Given the description of an element on the screen output the (x, y) to click on. 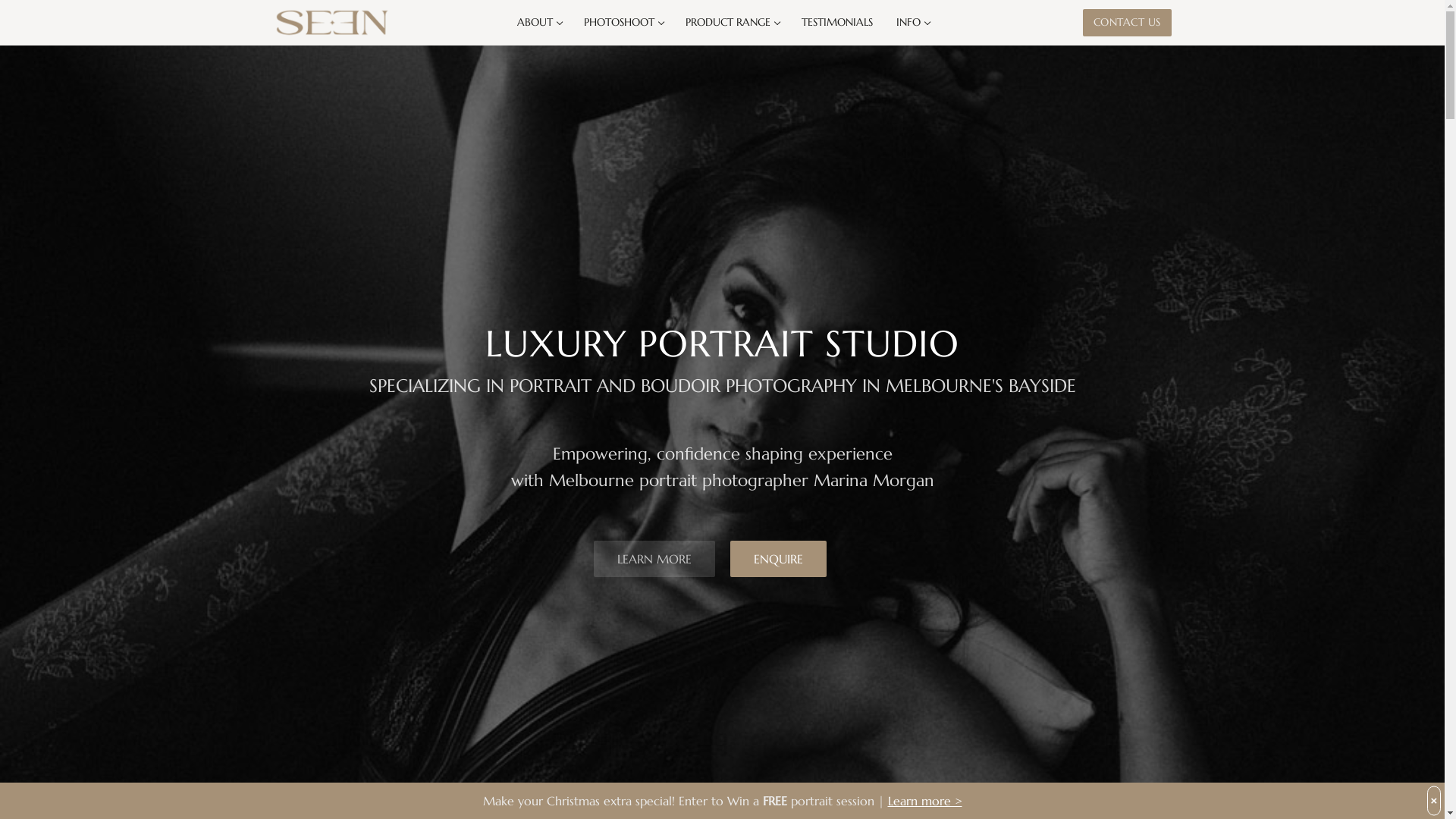
PHOTOSHOOT
  Element type: text (622, 22)
ABOUT
  Element type: text (537, 22)
INFO
  Element type: text (911, 22)
ENQUIRE Element type: text (777, 558)
LEARN MORE Element type: text (653, 558)
TESTIMONIALS Element type: text (836, 22)
CONTACT US Element type: text (1126, 23)
PRODUCT RANGE
  Element type: text (730, 22)
Learn more > Element type: text (924, 800)
